Given the description of an element on the screen output the (x, y) to click on. 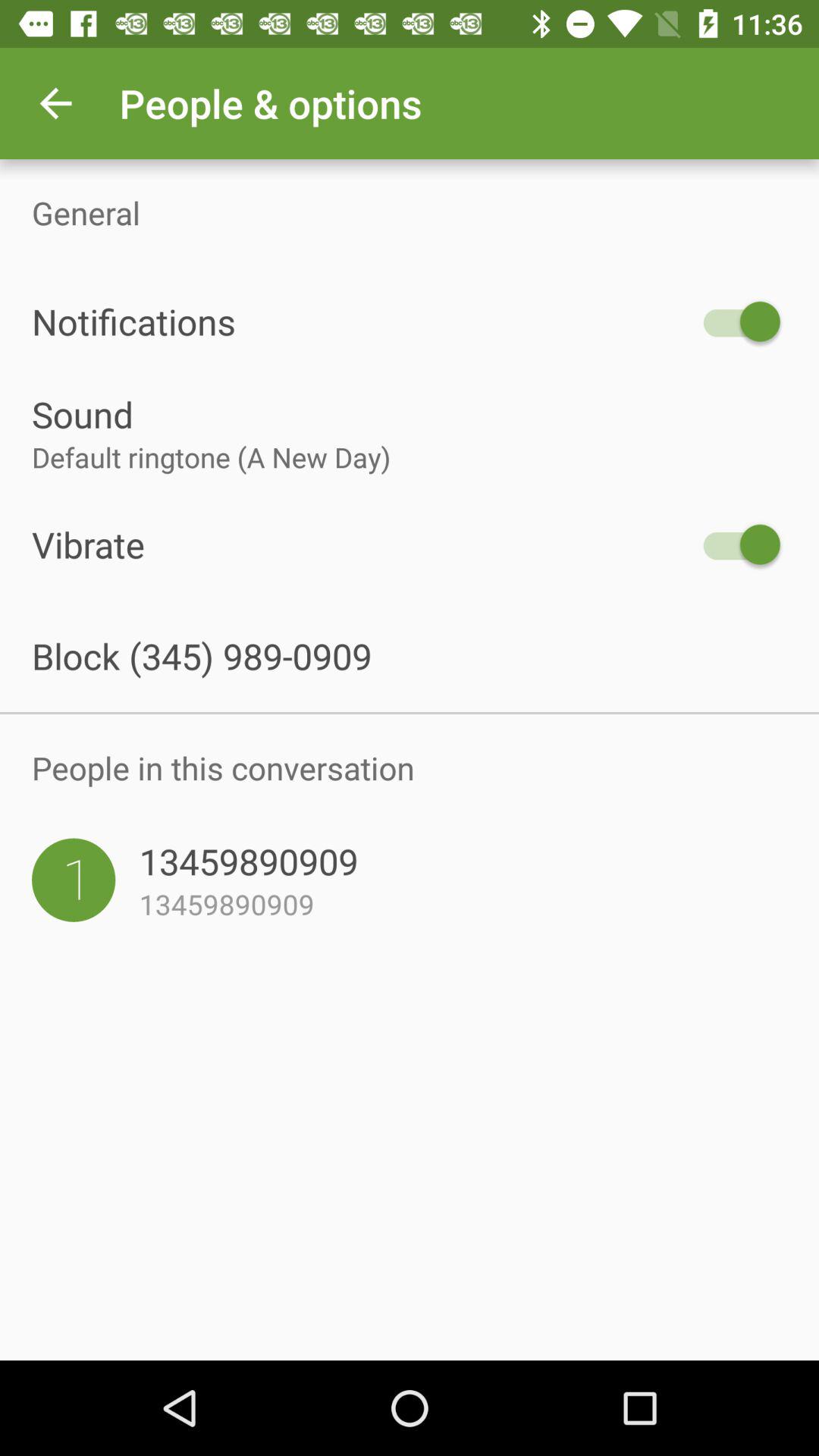
jump to the block 345 989 item (409, 655)
